Given the description of an element on the screen output the (x, y) to click on. 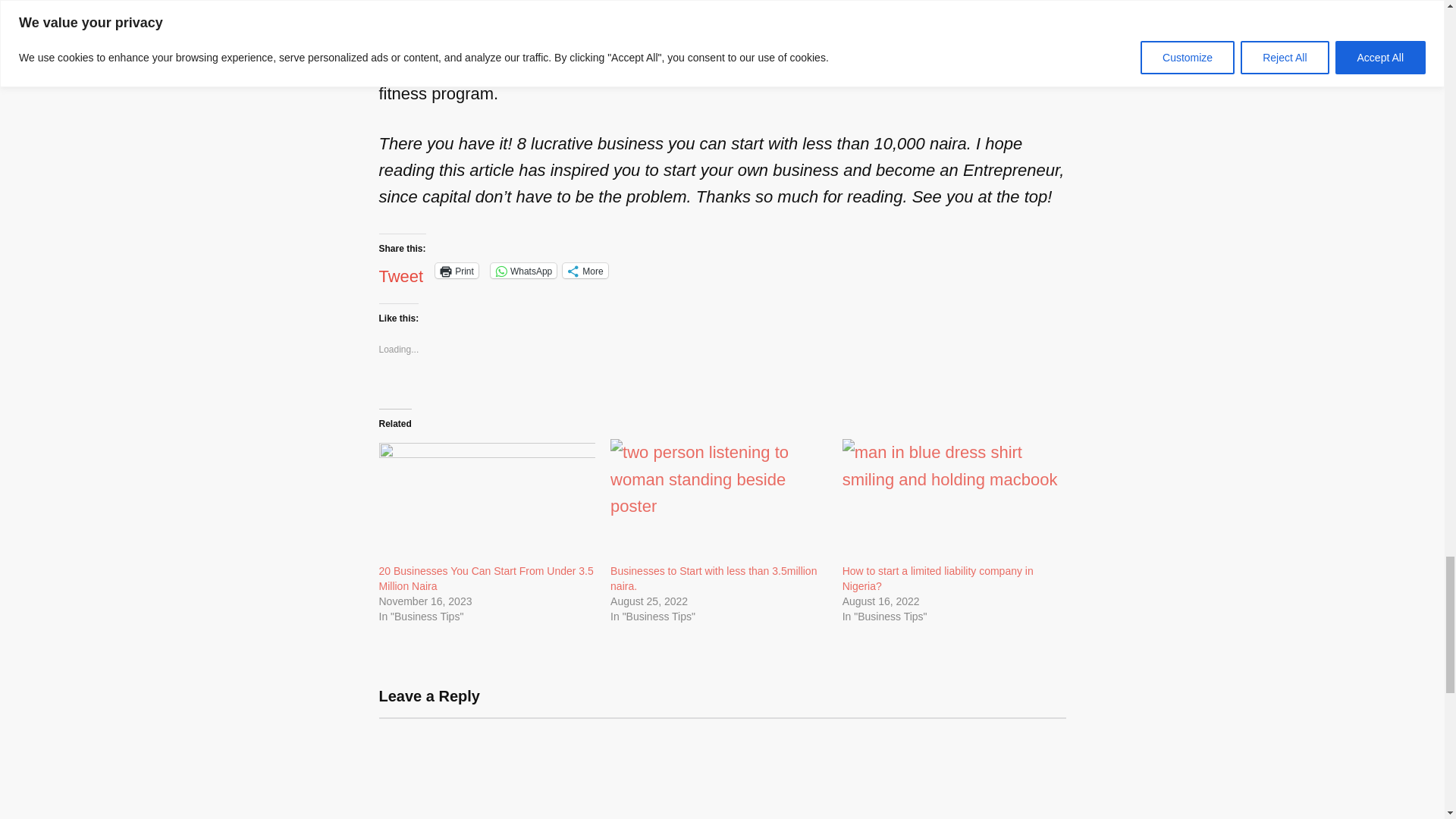
How to start a limited liability company in Nigeria? (938, 578)
Click to share on WhatsApp (523, 270)
Click to print (457, 270)
Businesses to Start with less than 3.5million naira. (718, 500)
Comment Form (721, 768)
20 Businesses You Can Start From Under 3.5 Million Naira (486, 500)
How to start a limited liability company in Nigeria? (951, 500)
20 Businesses You Can Start From Under 3.5 Million Naira (486, 578)
Businesses to Start with less than 3.5million naira. (713, 578)
